Given the description of an element on the screen output the (x, y) to click on. 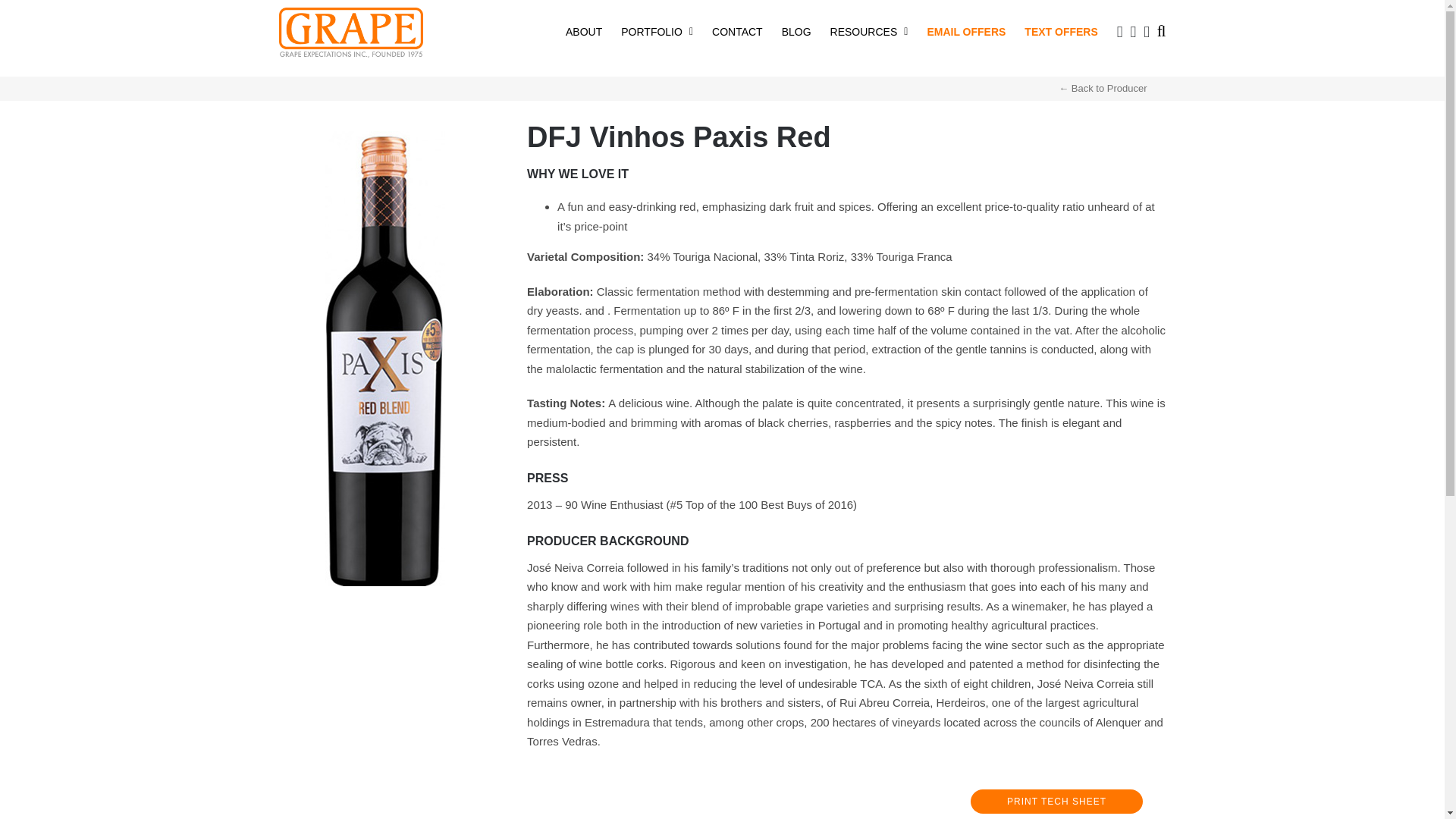
PORTFOLIO (657, 30)
PRINT TECH SHEET (1056, 801)
TEXT OFFERS (1061, 30)
DFJ Vinhos Paxis Red (384, 136)
EMAIL OFFERS (966, 30)
RESOURCES (868, 30)
